Given the description of an element on the screen output the (x, y) to click on. 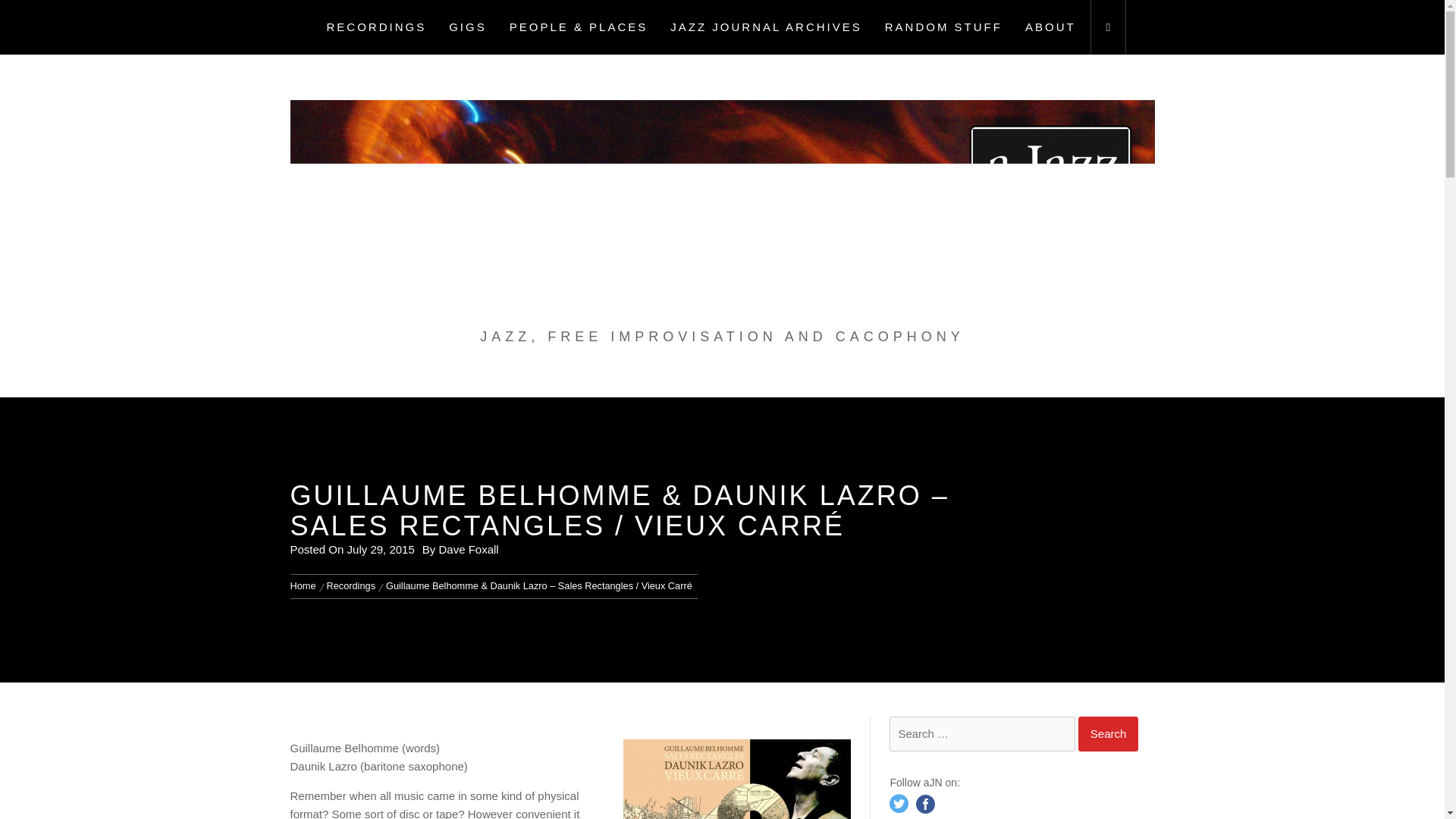
RECORDINGS (376, 27)
ABOUT (1050, 27)
RANDOM STUFF (943, 27)
Home (304, 585)
July 29, 2015 (380, 549)
Search (1108, 733)
Search (1108, 733)
Dave Foxall (467, 549)
Search (1108, 733)
JAZZ JOURNAL ARCHIVES (765, 27)
